Given the description of an element on the screen output the (x, y) to click on. 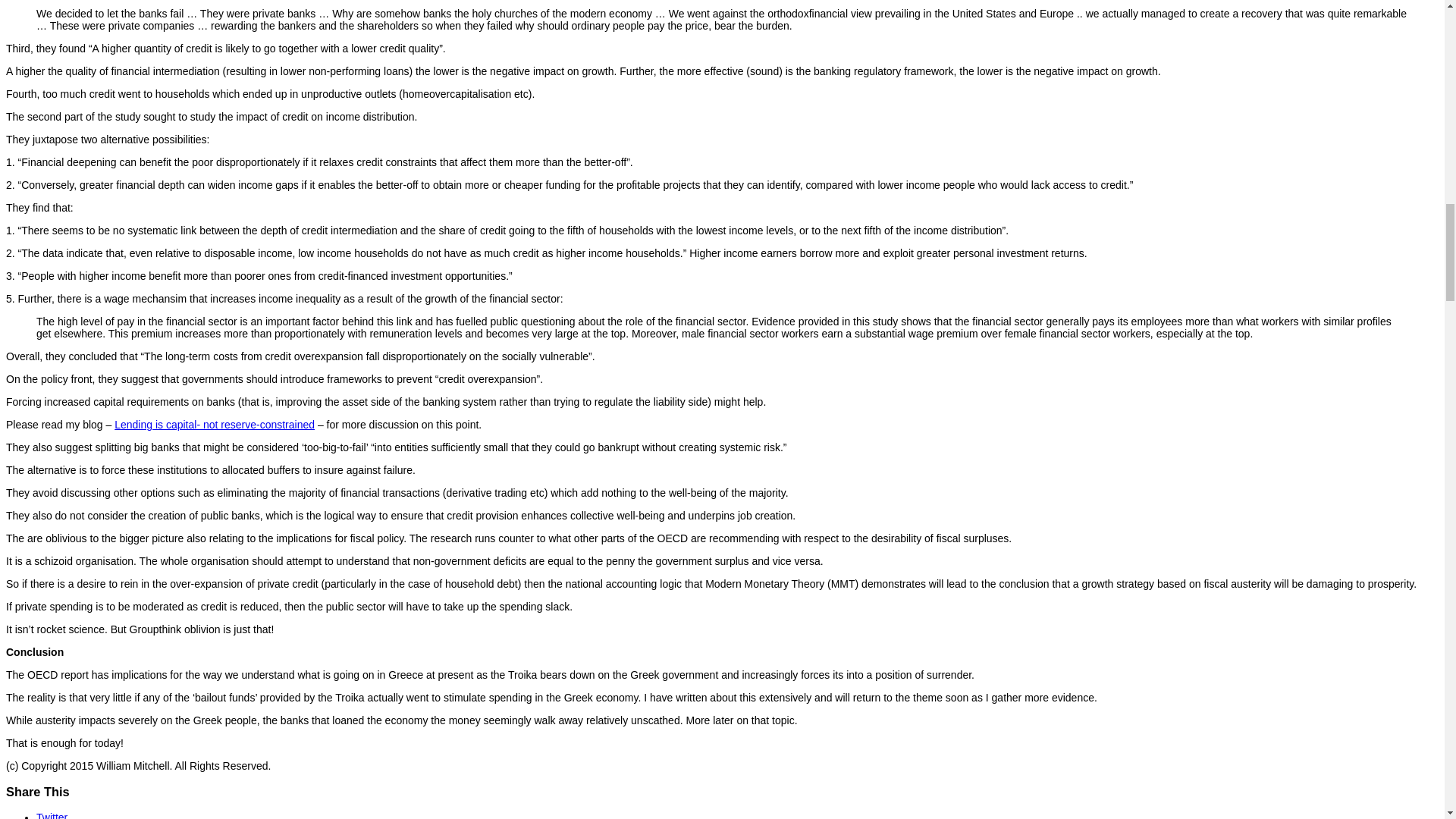
Lending is capital- not reserve-constrained (214, 424)
Twitter (51, 815)
Lending is capital- not reserve-constrained (214, 424)
